Given the description of an element on the screen output the (x, y) to click on. 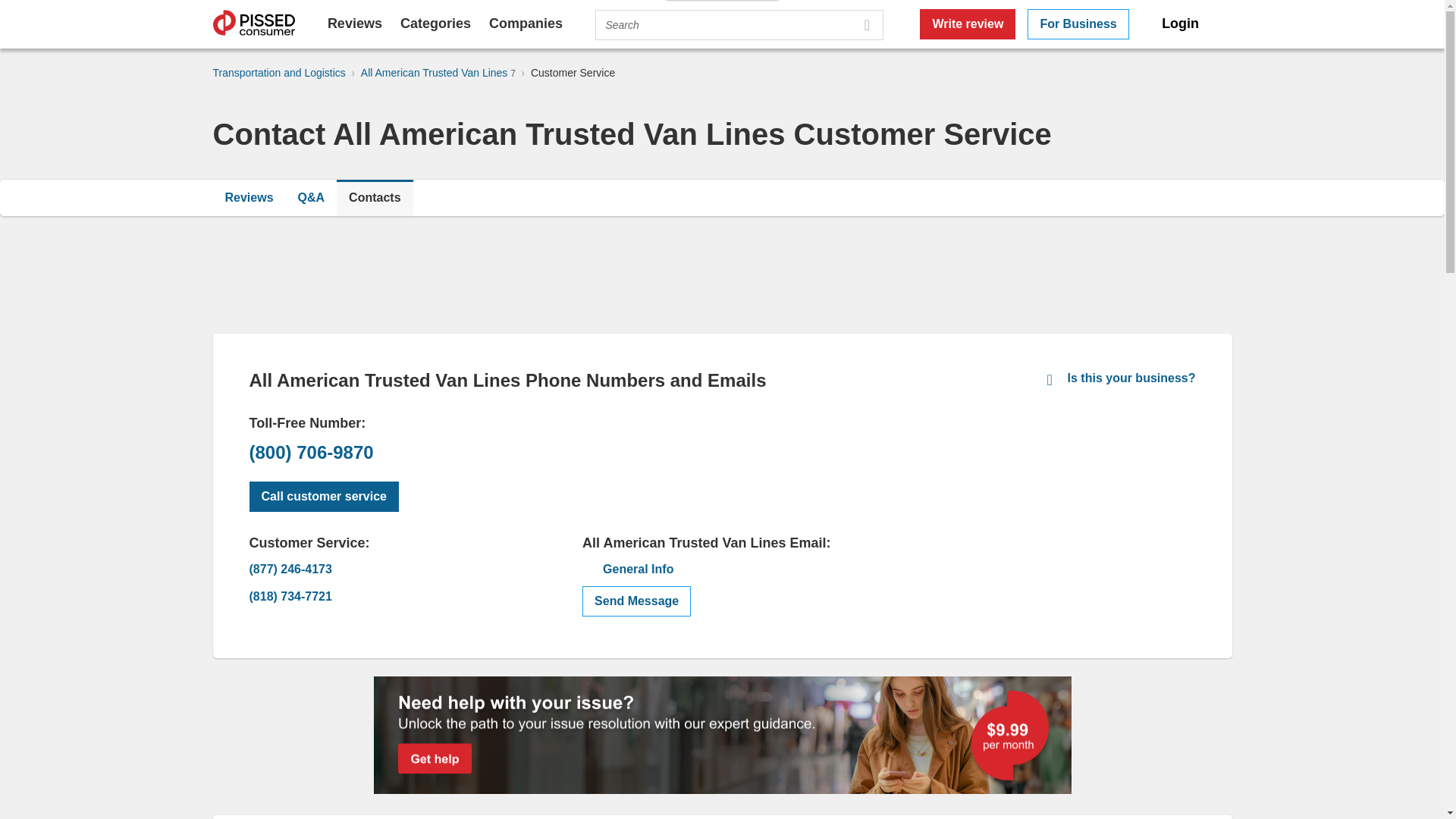
PissedConsumer (253, 23)
Companies (525, 23)
All American Trusted Van Lines reviews (248, 197)
Reviews (248, 197)
For Business (1077, 24)
All American Trusted Van Lines (436, 72)
Write review (967, 24)
Categories (435, 23)
Transportation and Logistics (278, 72)
Reviews (354, 23)
